Given the description of an element on the screen output the (x, y) to click on. 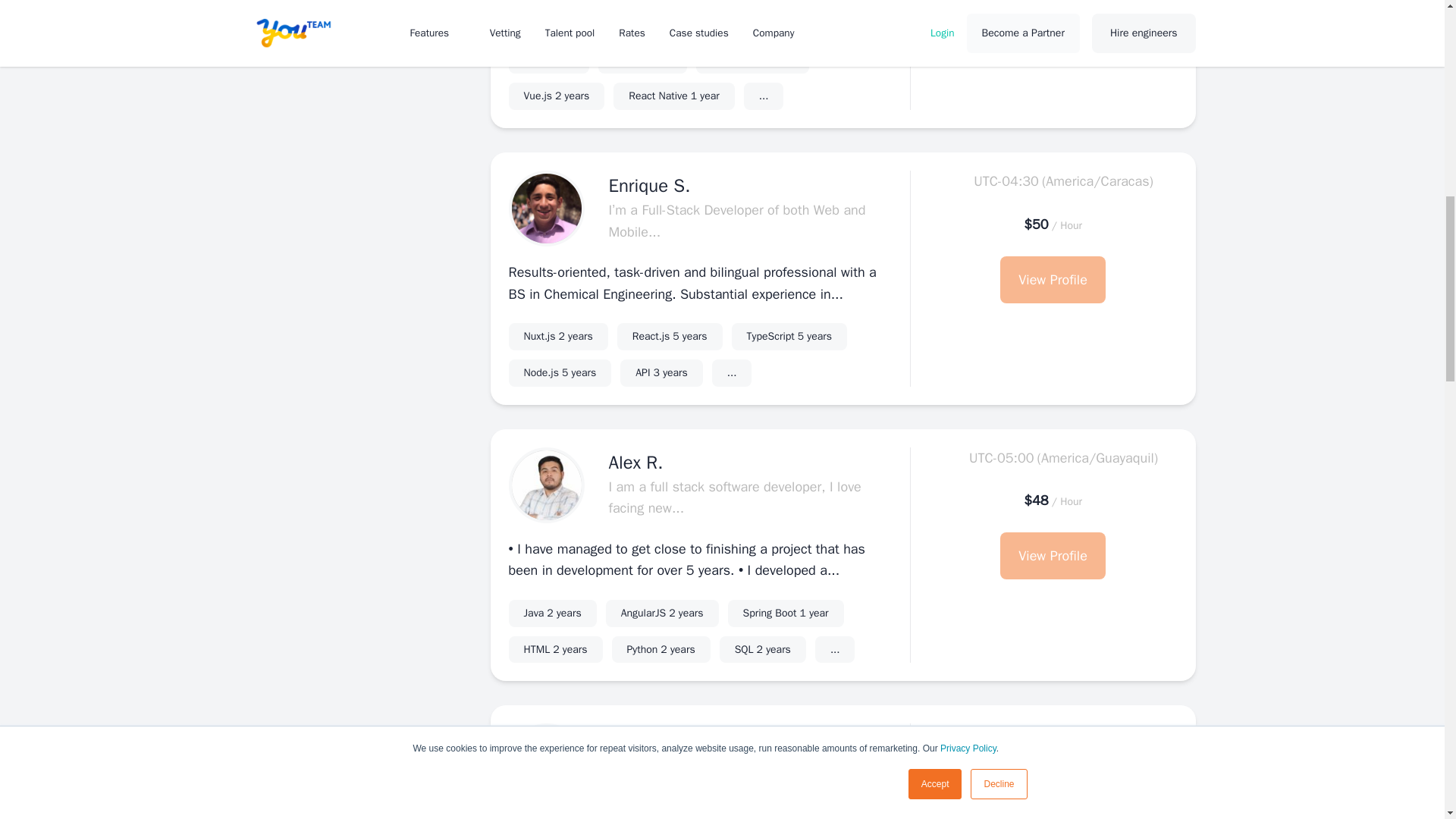
View Profile (1052, 13)
... (556, 95)
